Given the description of an element on the screen output the (x, y) to click on. 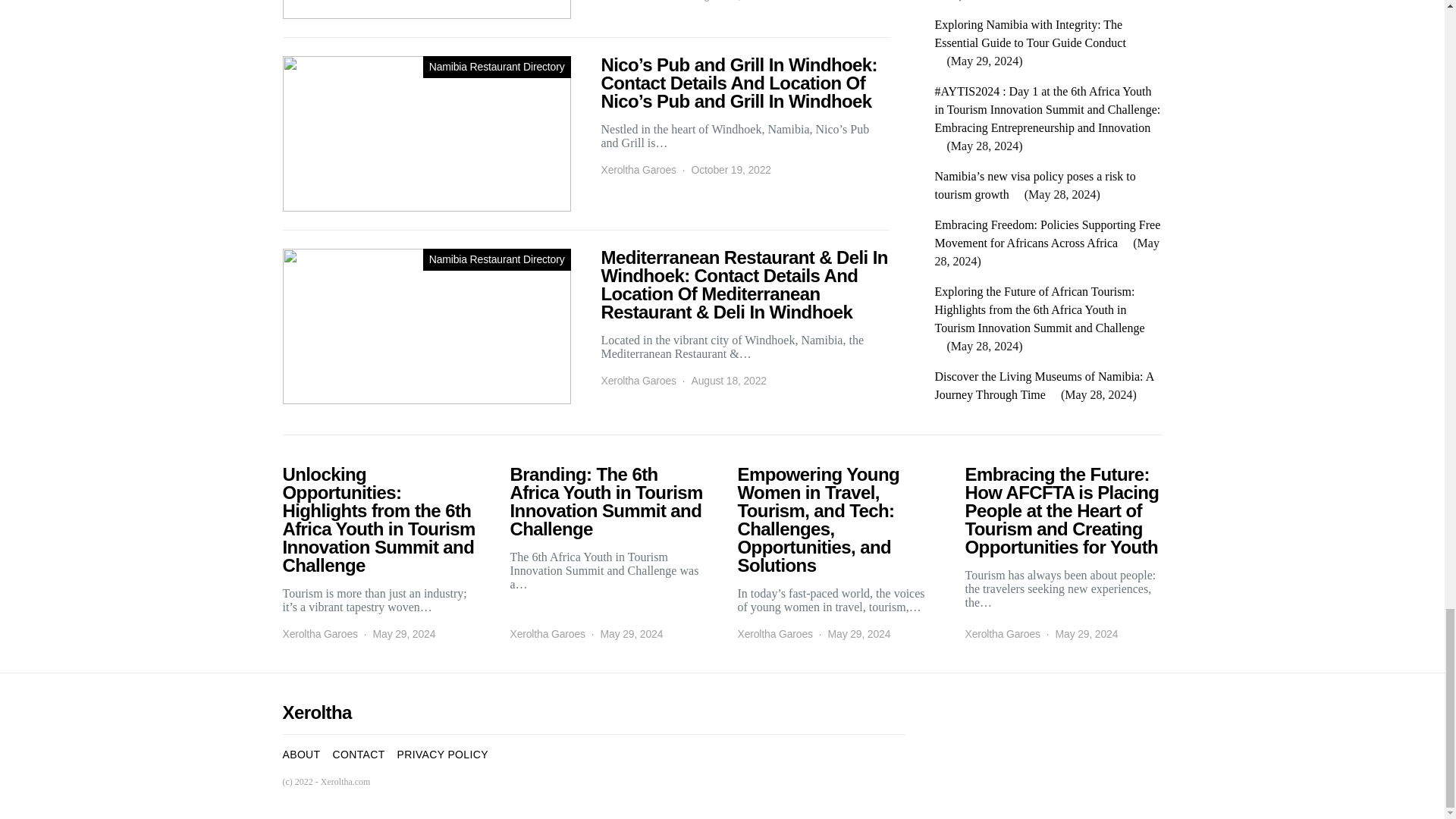
View all posts by Xeroltha Garoes (319, 634)
View all posts by Xeroltha Garoes (547, 634)
View all posts by Xeroltha Garoes (774, 634)
Xeroltha Garoes (637, 2)
View all posts by Xeroltha Garoes (637, 381)
View all posts by Xeroltha Garoes (1001, 634)
View all posts by Xeroltha Garoes (637, 170)
View all posts by Xeroltha Garoes (637, 2)
